Given the description of an element on the screen output the (x, y) to click on. 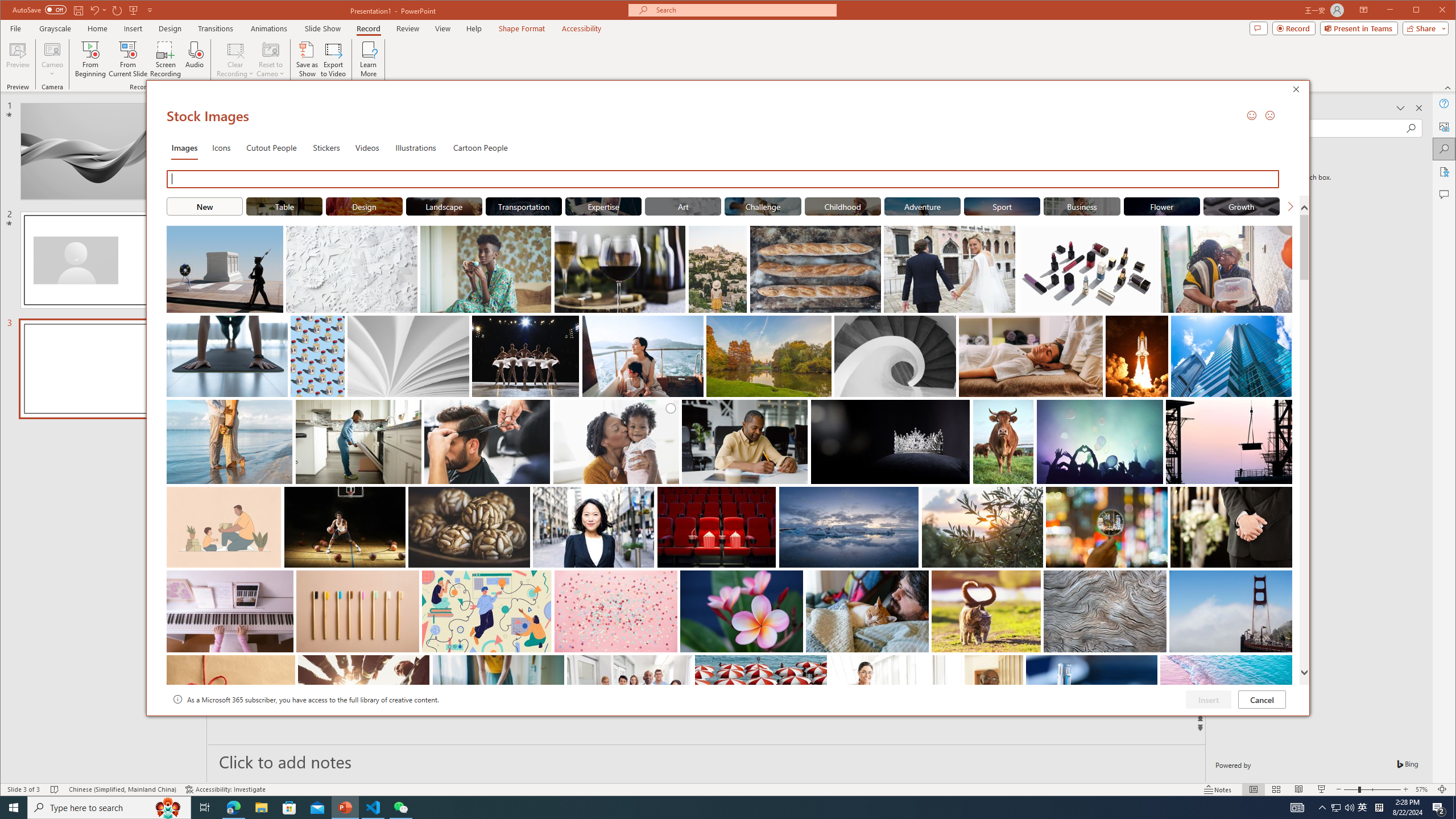
Grayscale (55, 28)
"Challenge" Stock Images. (762, 206)
"Transportation" Stock Images. (524, 206)
